Given the description of an element on the screen output the (x, y) to click on. 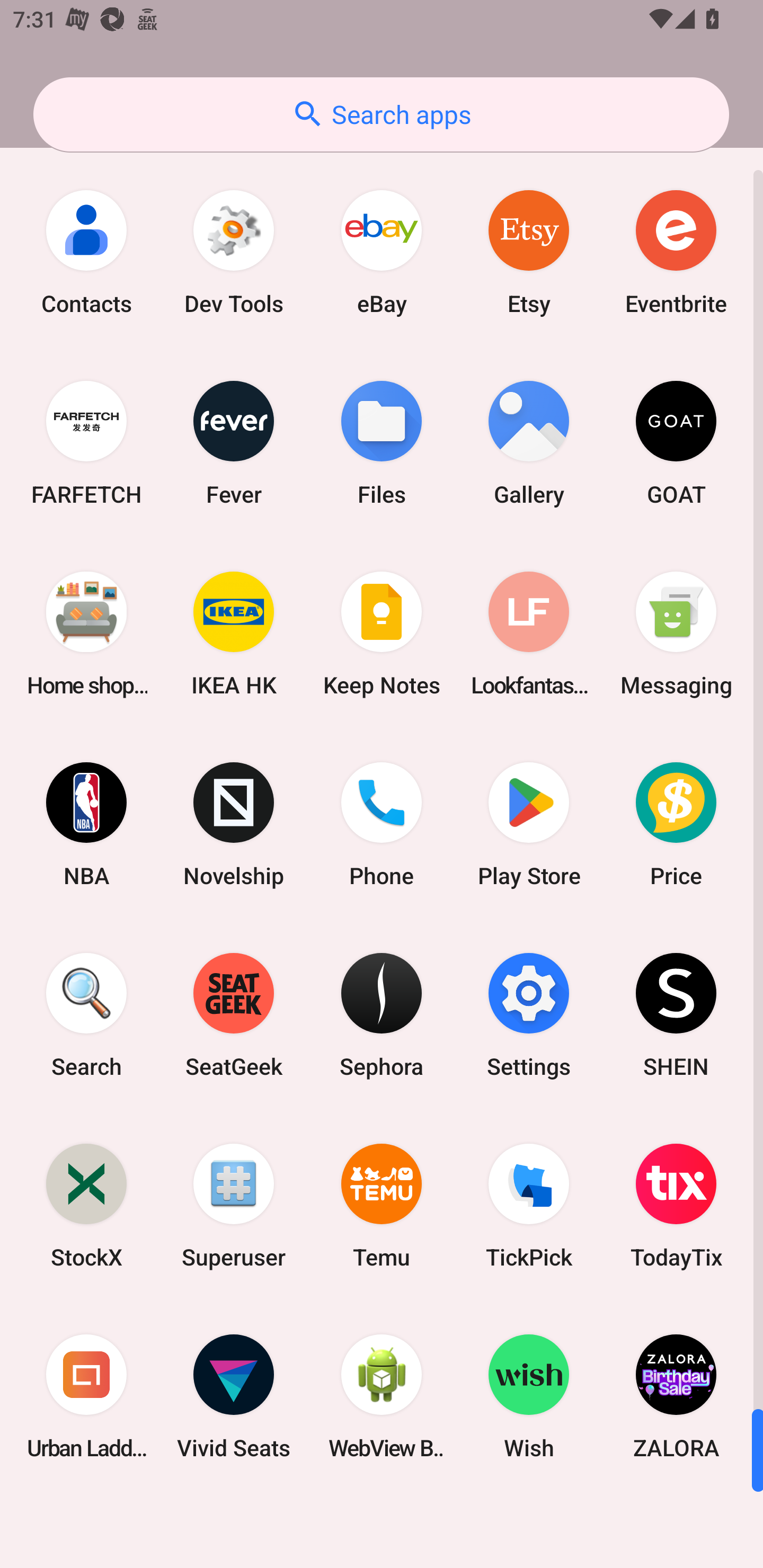
  Search apps (381, 114)
Contacts (86, 252)
Dev Tools (233, 252)
eBay (381, 252)
Etsy (528, 252)
Eventbrite (676, 252)
FARFETCH (86, 442)
Fever (233, 442)
Files (381, 442)
Gallery (528, 442)
GOAT (676, 442)
Home shopping (86, 633)
IKEA HK (233, 633)
Keep Notes (381, 633)
Lookfantastic (528, 633)
Messaging (676, 633)
NBA (86, 823)
Novelship (233, 823)
Phone (381, 823)
Play Store (528, 823)
Price (676, 823)
Search (86, 1014)
SeatGeek (233, 1014)
Sephora (381, 1014)
Settings (528, 1014)
SHEIN (676, 1014)
StockX (86, 1205)
Superuser (233, 1205)
Temu (381, 1205)
TickPick (528, 1205)
TodayTix (676, 1205)
Urban Ladder (86, 1396)
Vivid Seats (233, 1396)
WebView Browser Tester (381, 1396)
Wish (528, 1396)
ZALORA (676, 1396)
